Given the description of an element on the screen output the (x, y) to click on. 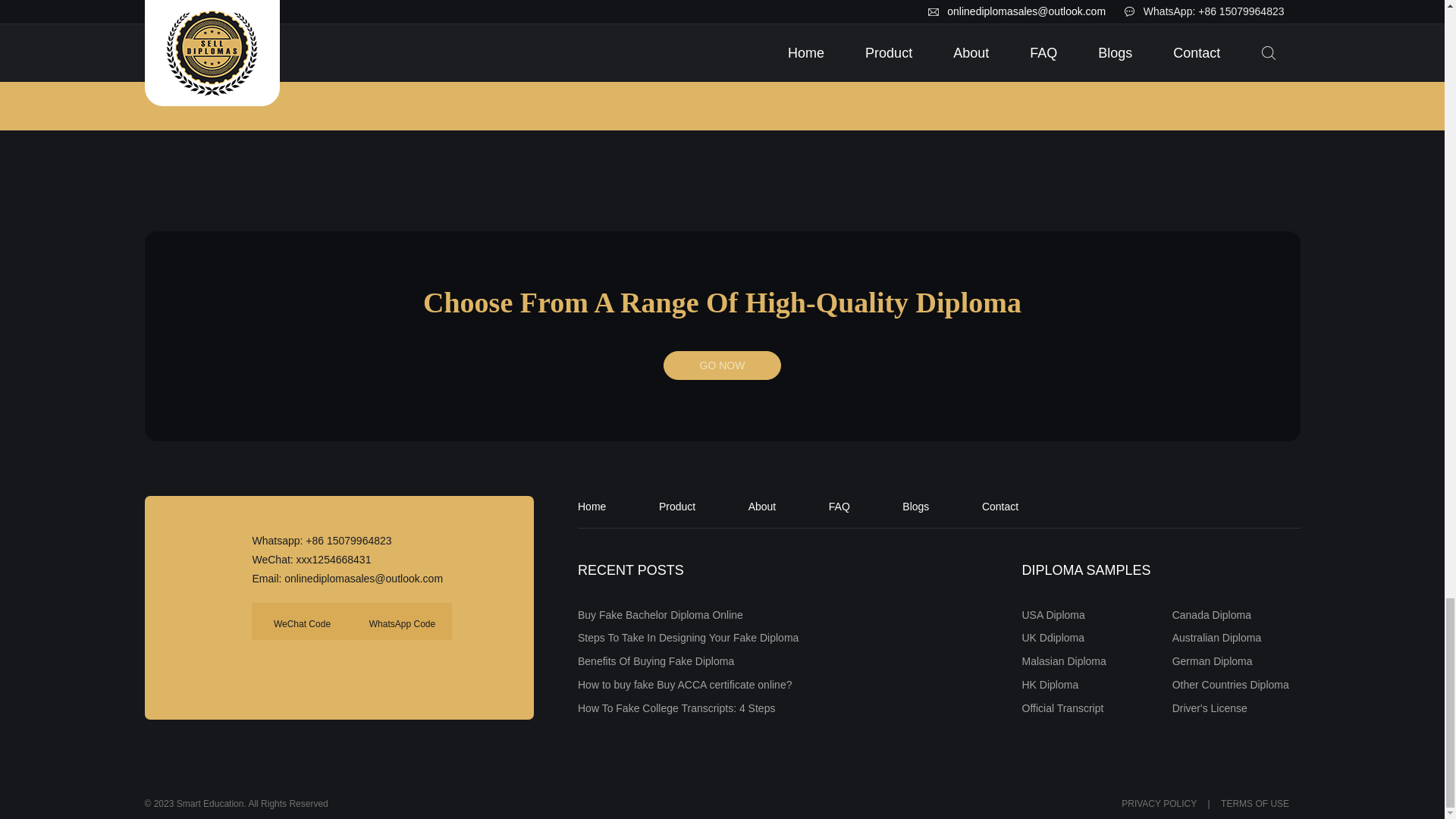
how to buy university of new orleans degree? (1182, 2)
Contact (999, 505)
Home (591, 505)
Buy Fake Bachelor Diploma Online (660, 614)
Blogs (915, 505)
FAQ (839, 505)
where to buy Aeizona State University diploma certificate? (876, 2)
GO NOW (721, 365)
how to buy university of new orleans degree? (1182, 26)
where to buy Aeizona State University diploma certificate? (875, 26)
Sell fake University of Chicago diploma online. (569, 2)
Product (677, 505)
How to buy Liberty University degree? (261, 19)
Steps To Take In Designing Your Fake Diploma (687, 637)
How to buy Liberty University degree? (261, 2)
